Given the description of an element on the screen output the (x, y) to click on. 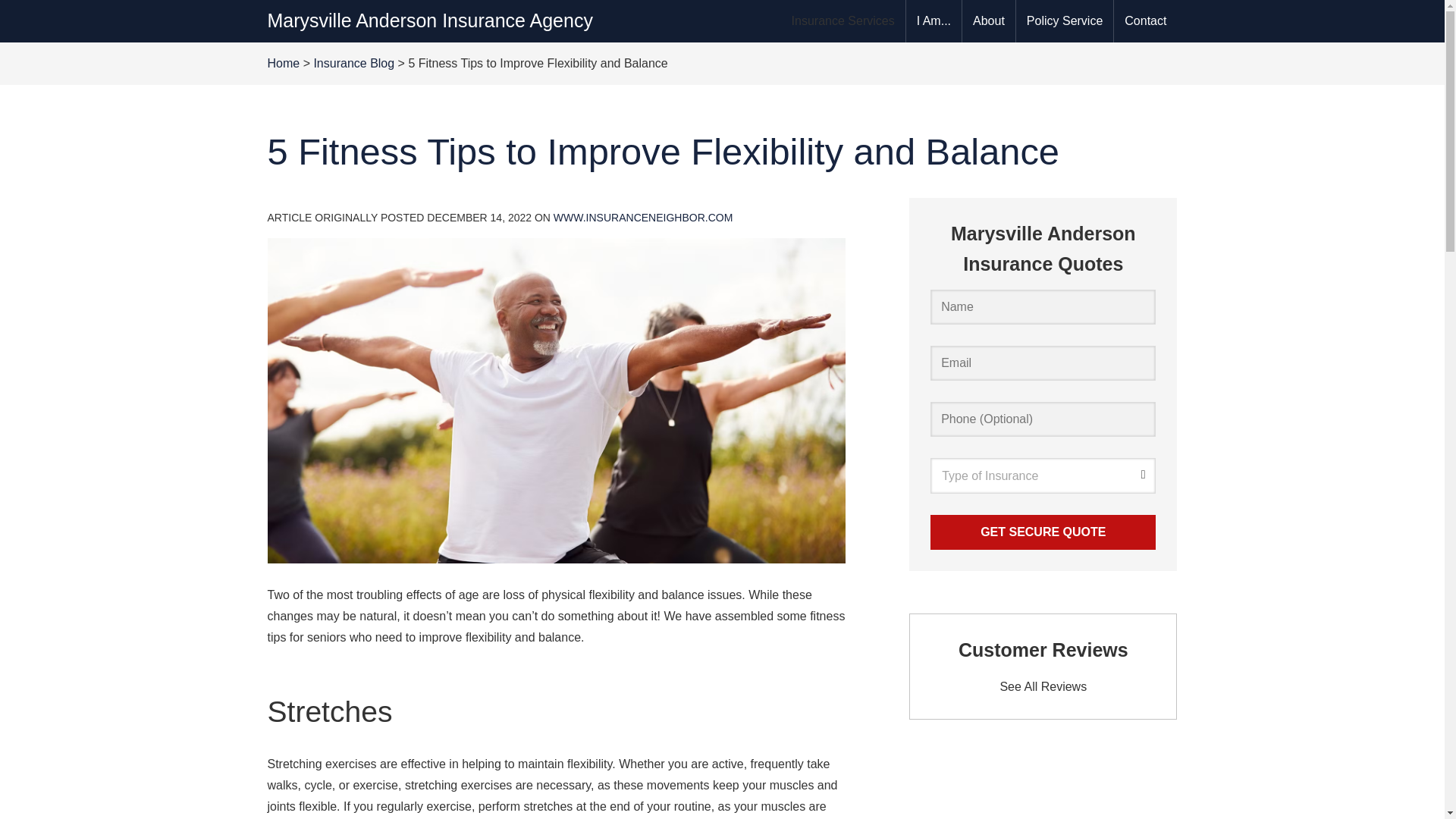
Marysville Anderson Insurance Agency (429, 20)
About (988, 21)
Insurance Services (842, 21)
Policy Service (1064, 21)
I Am... (932, 21)
Get Secure Quote (1043, 532)
